Given the description of an element on the screen output the (x, y) to click on. 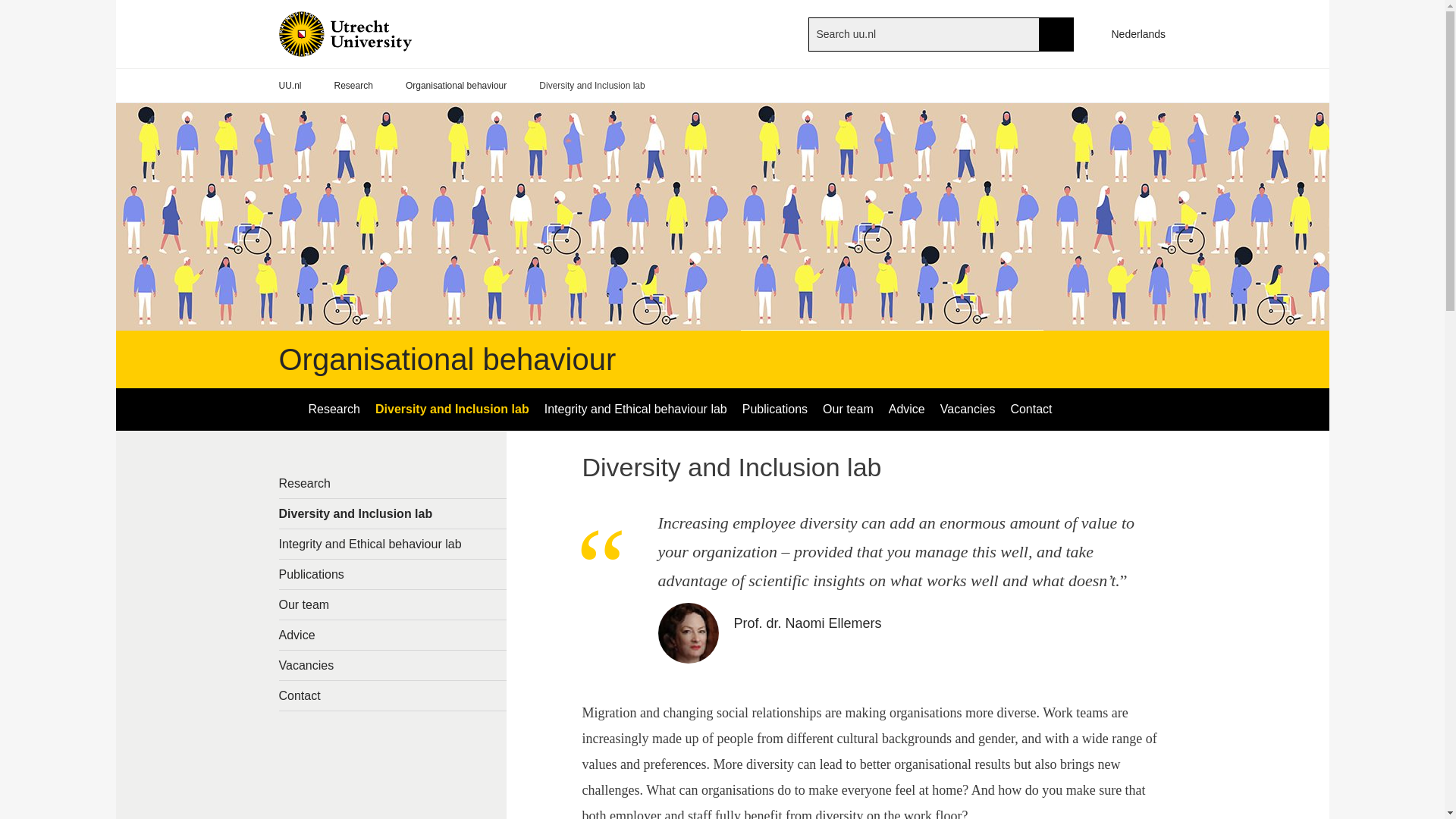
Our team (392, 604)
Research (392, 482)
Diversity and Inclusion lab (452, 409)
Research (353, 85)
Advice (392, 634)
Publications (775, 409)
UU.nl (290, 85)
Nederlands (1131, 33)
Contact (392, 695)
Diversity and Inclusion lab (392, 513)
Integrity and Ethical behaviour lab (392, 543)
Home (370, 33)
Contact (1031, 409)
Integrity and Ethical behaviour lab (636, 409)
